Given the description of an element on the screen output the (x, y) to click on. 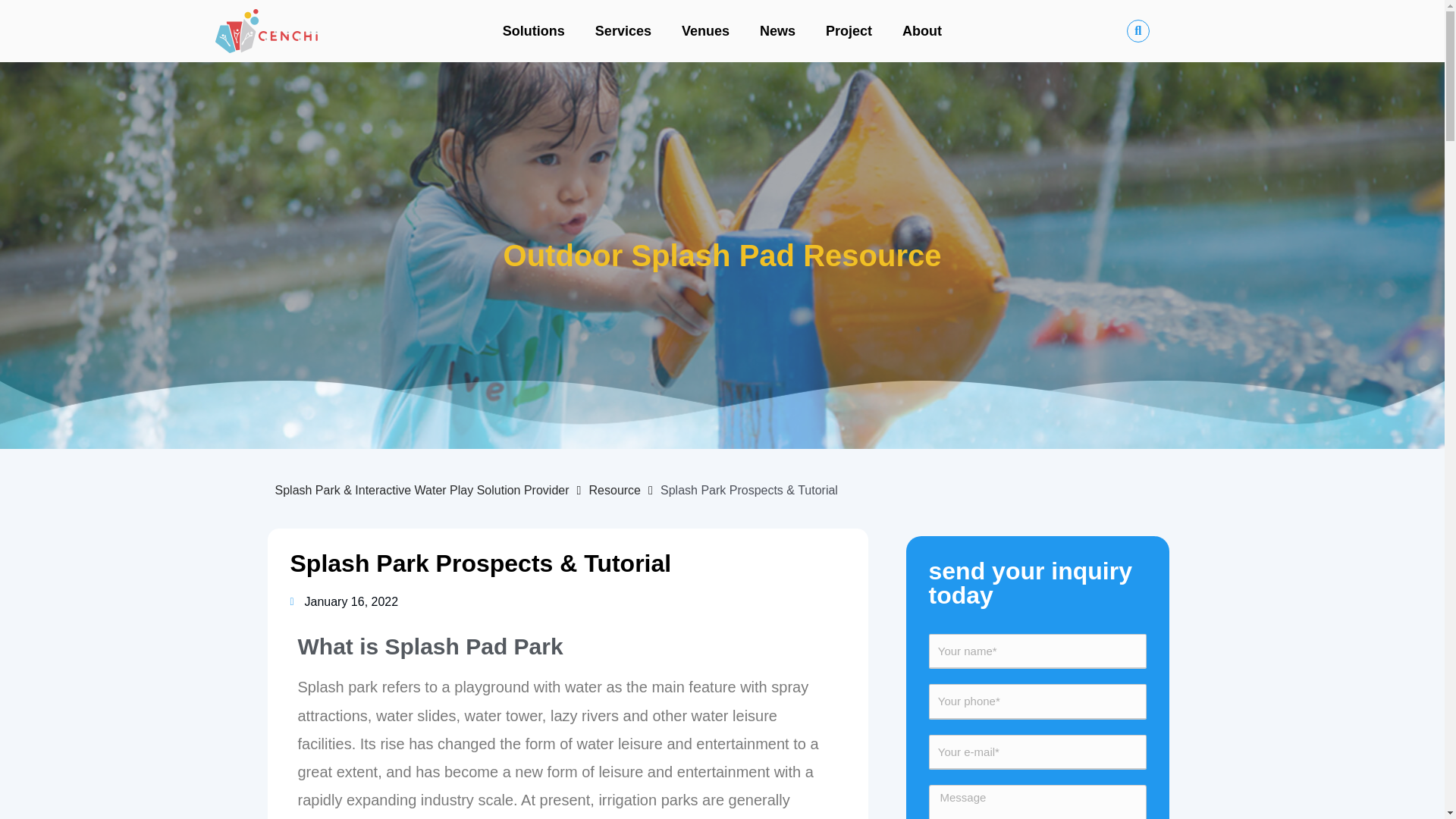
Project (848, 30)
News (777, 30)
Solutions (533, 30)
Services (622, 30)
Resource (614, 490)
Resource (614, 490)
Venues (705, 30)
About (921, 30)
